Given the description of an element on the screen output the (x, y) to click on. 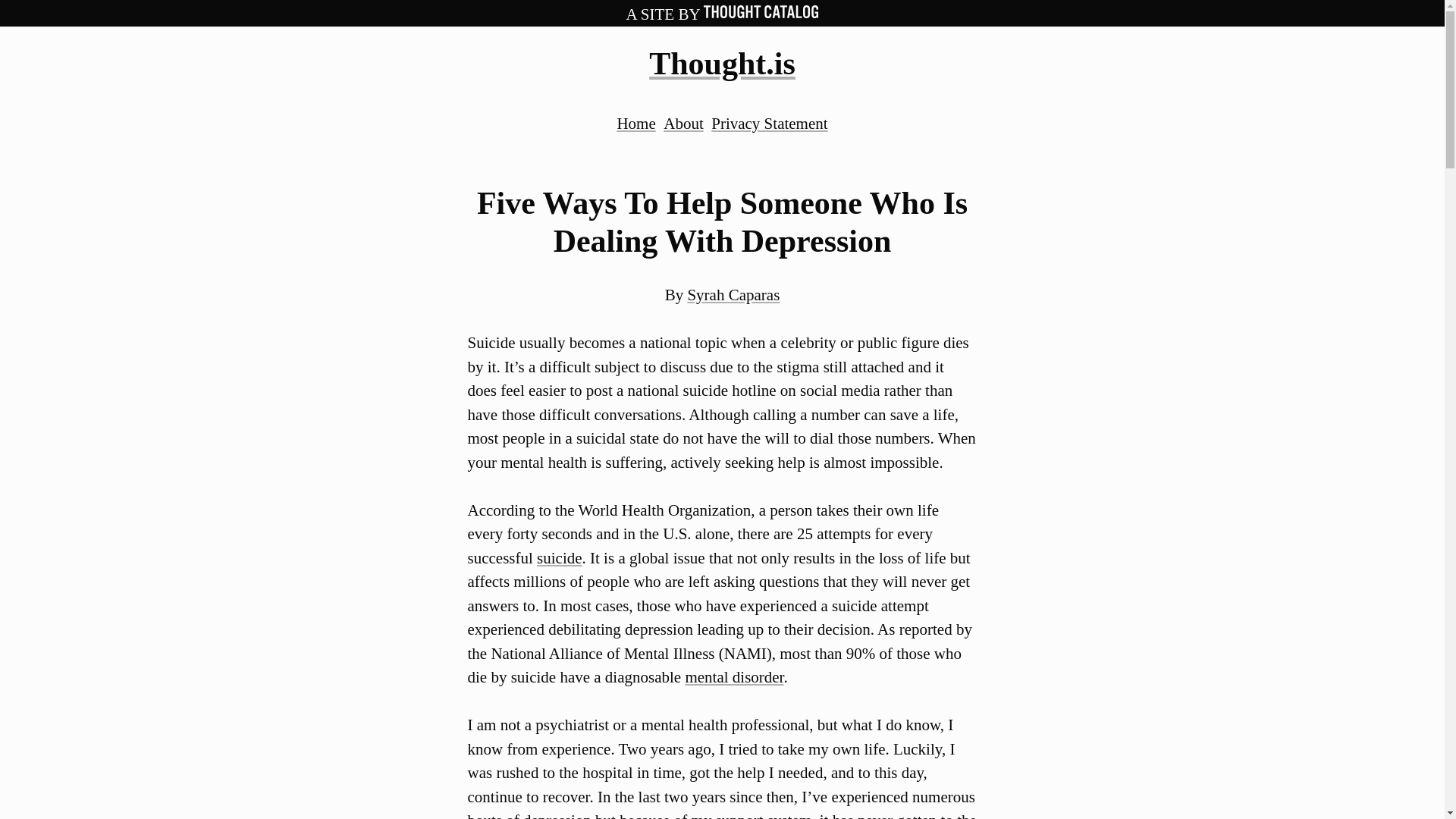
Thought.is (721, 63)
Posts by Syrah Caparas (732, 294)
About (683, 123)
suicide (558, 557)
THOUGHT CATALOG (760, 11)
THOUGHT CATALOG (760, 13)
Home (635, 123)
Syrah Caparas (732, 294)
mental disorder (733, 677)
Privacy Statement (769, 123)
